Given the description of an element on the screen output the (x, y) to click on. 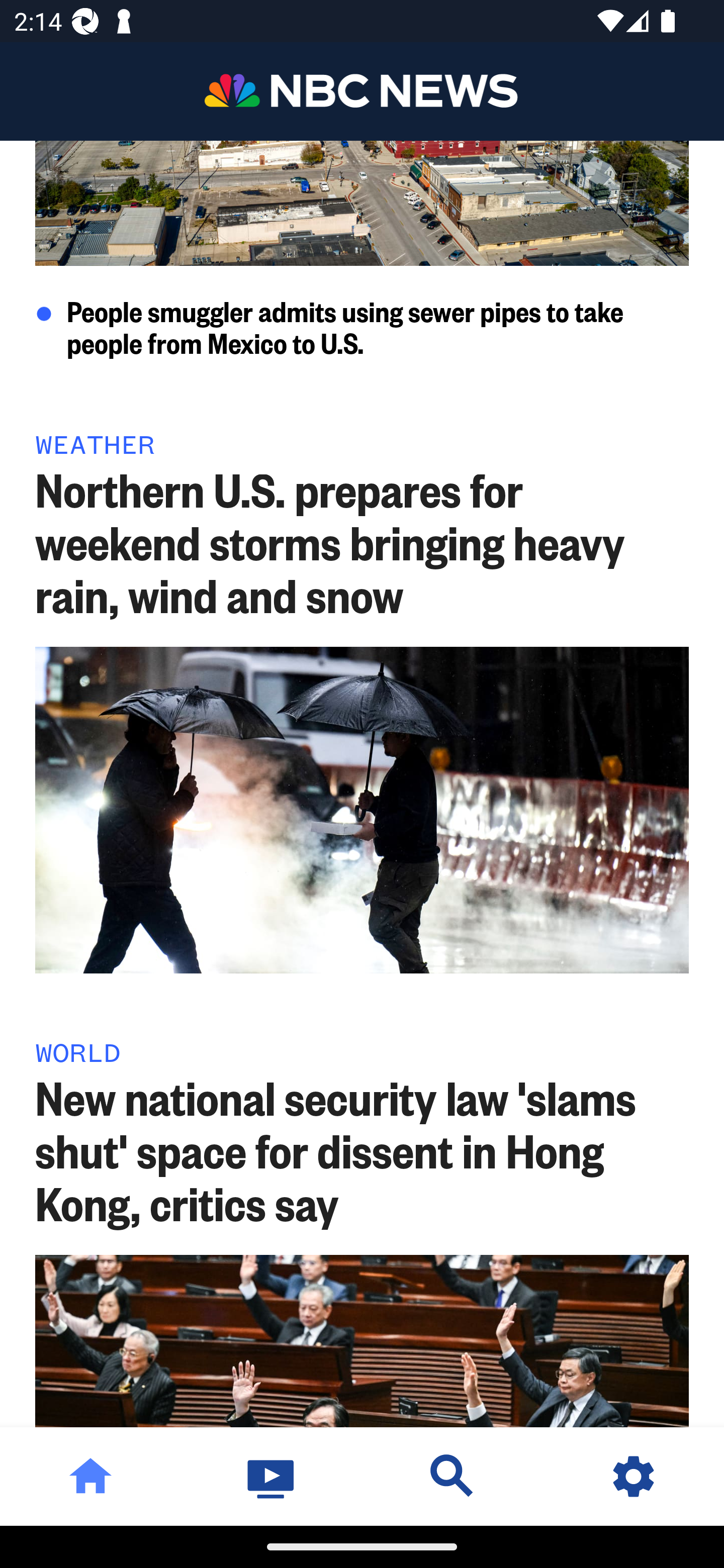
Watch (271, 1475)
Discover (452, 1475)
Settings (633, 1475)
